Given the description of an element on the screen output the (x, y) to click on. 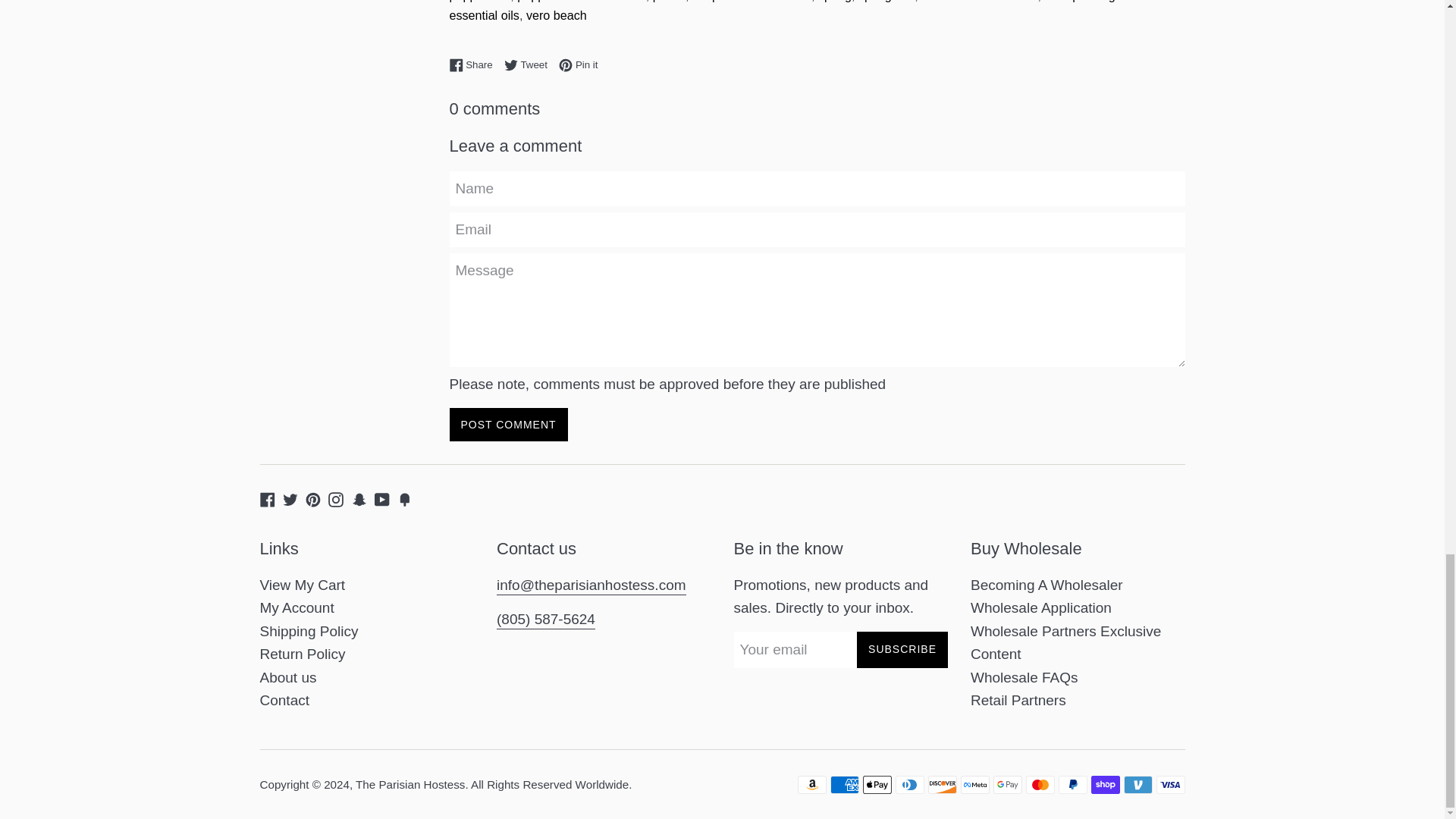
Post comment (507, 424)
The Parisian Hostess on YouTube (382, 498)
Tweet on Twitter (528, 64)
The Parisian Hostess on Pinterest (312, 498)
Pin on Pinterest (577, 64)
The Parisian Hostess on Snapchat (359, 498)
Email The Parisian Hostess (590, 586)
Amazon (812, 784)
The Parisian Hostess on Instagram (336, 498)
The Parisian Hostess on Fancy (404, 498)
